Given the description of an element on the screen output the (x, y) to click on. 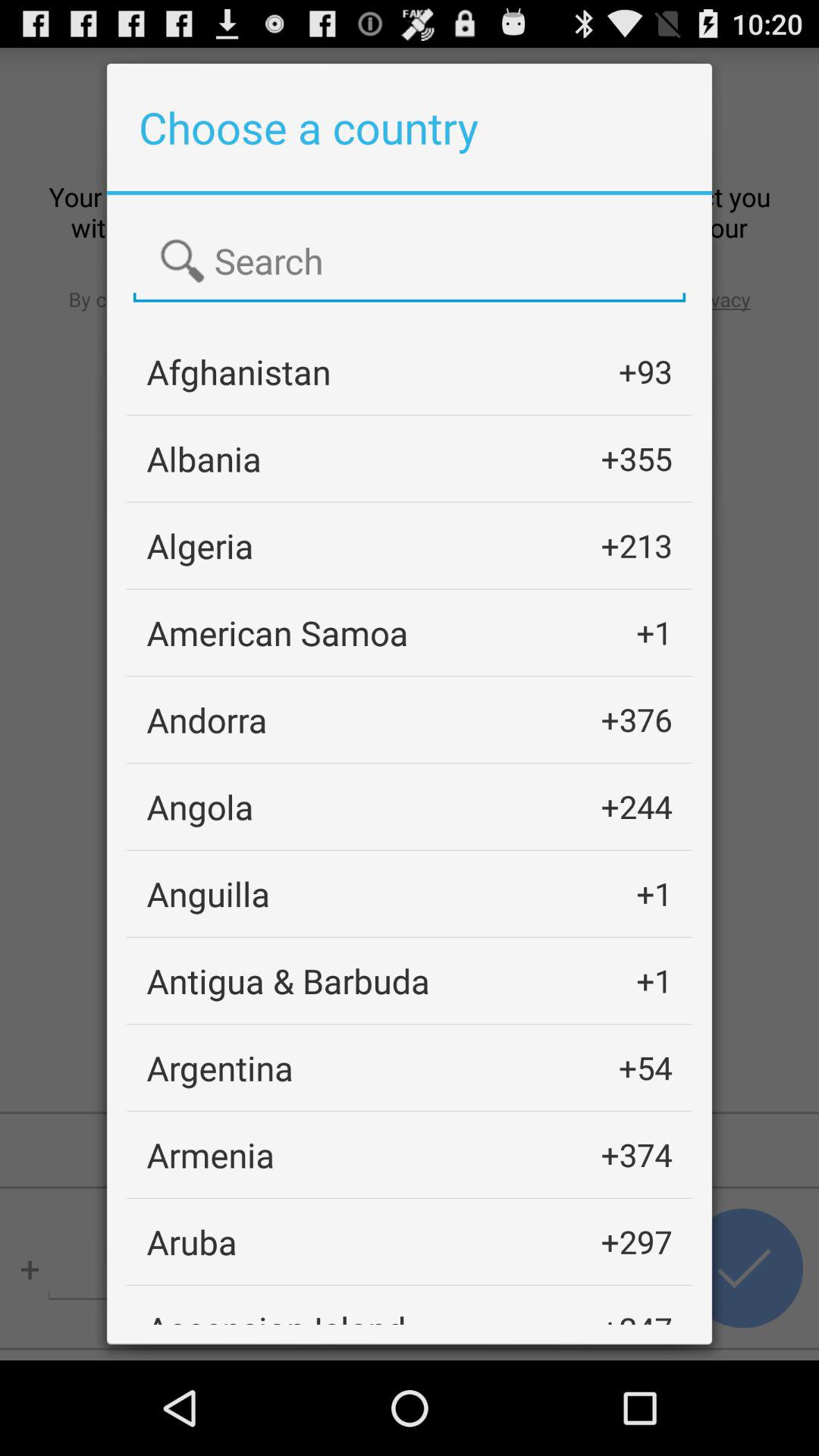
select the icon below afghanistan app (203, 458)
